Given the description of an element on the screen output the (x, y) to click on. 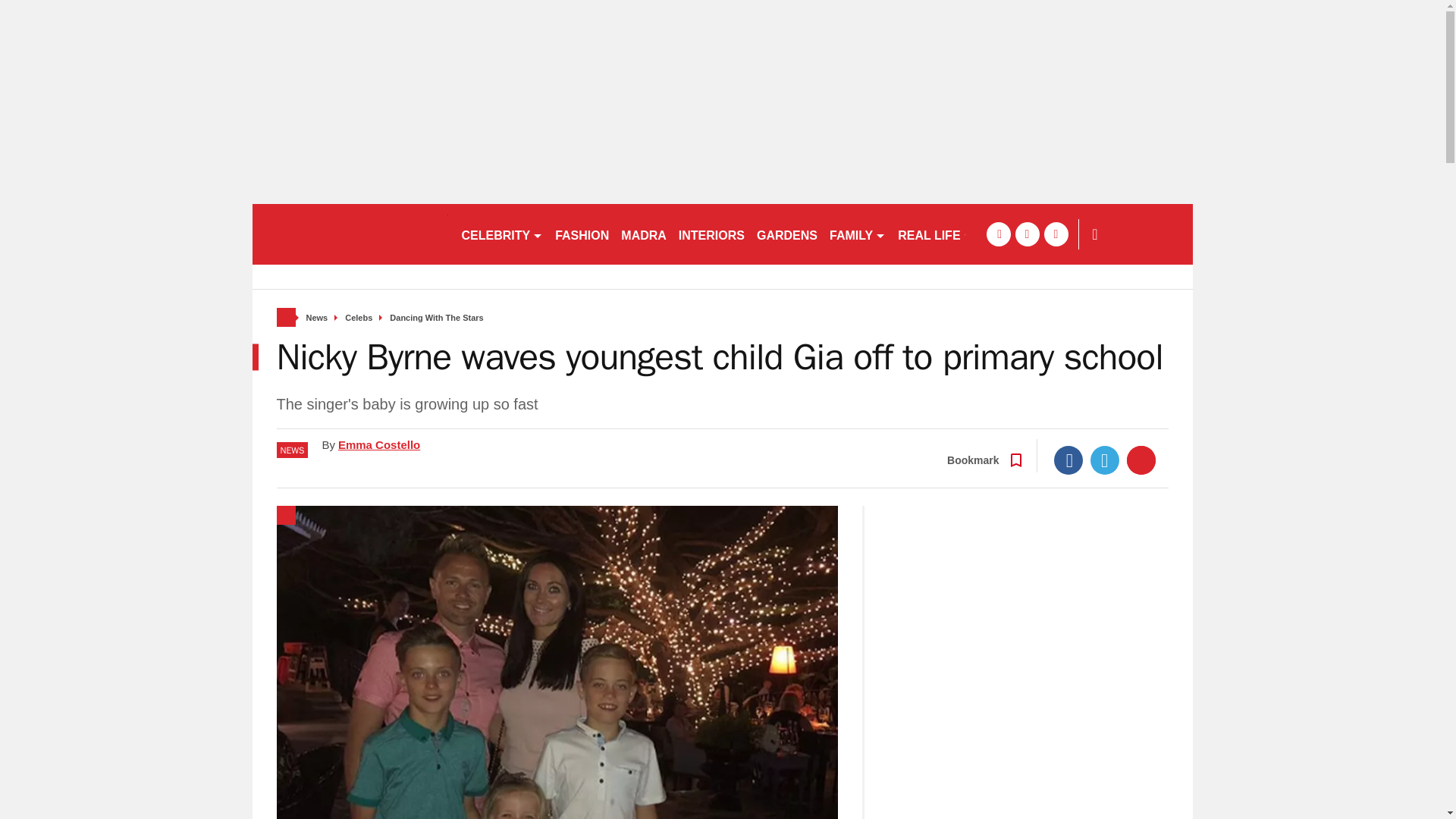
MADRA (643, 233)
twitter (1026, 233)
CELEBRITY (501, 233)
Facebook (1068, 460)
GARDENS (787, 233)
facebook (997, 233)
INTERIORS (711, 233)
rsvp (348, 233)
FAMILY (857, 233)
REAL LIFE (934, 233)
